Given the description of an element on the screen output the (x, y) to click on. 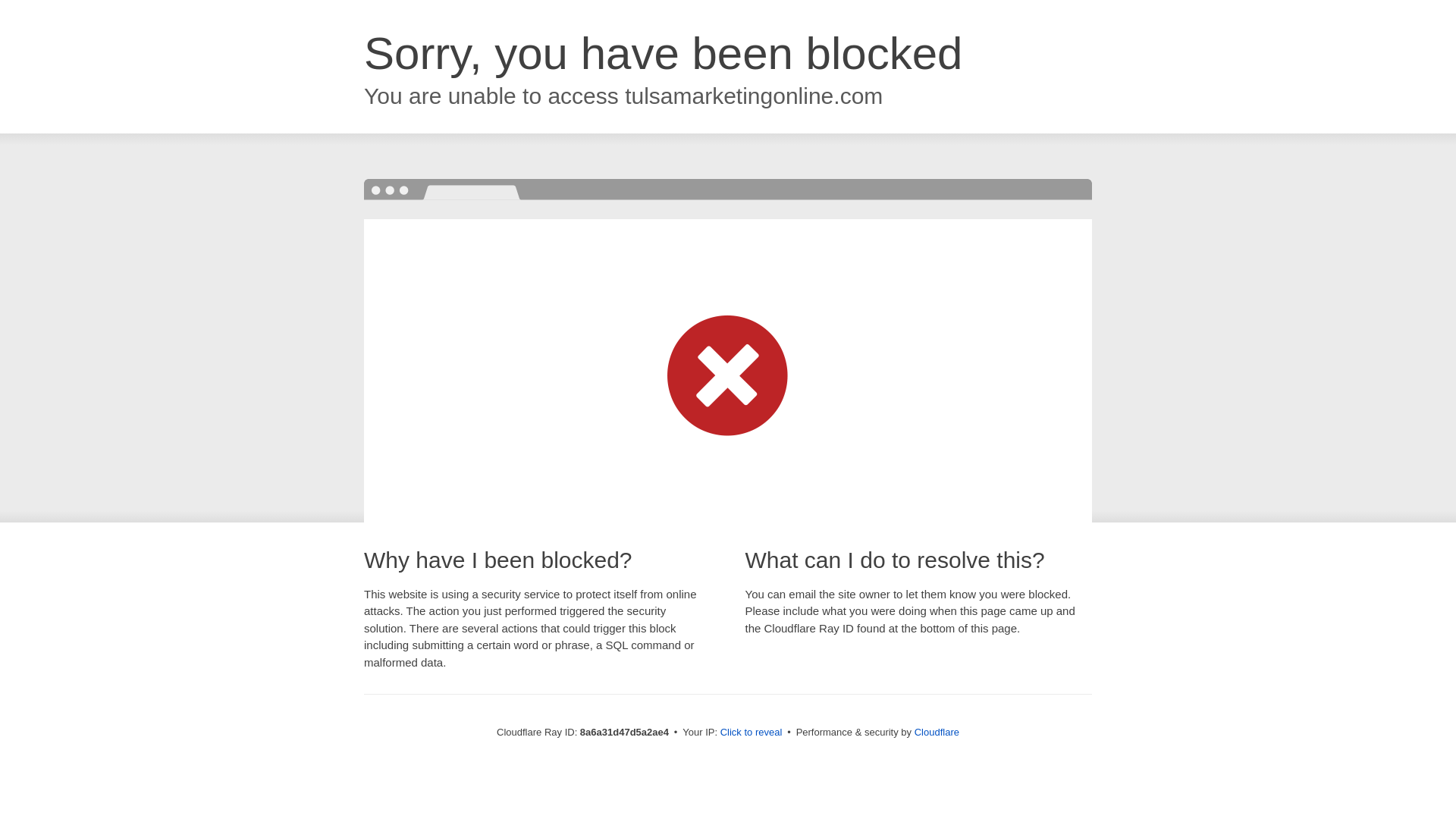
Cloudflare (936, 731)
Click to reveal (751, 732)
